Given the description of an element on the screen output the (x, y) to click on. 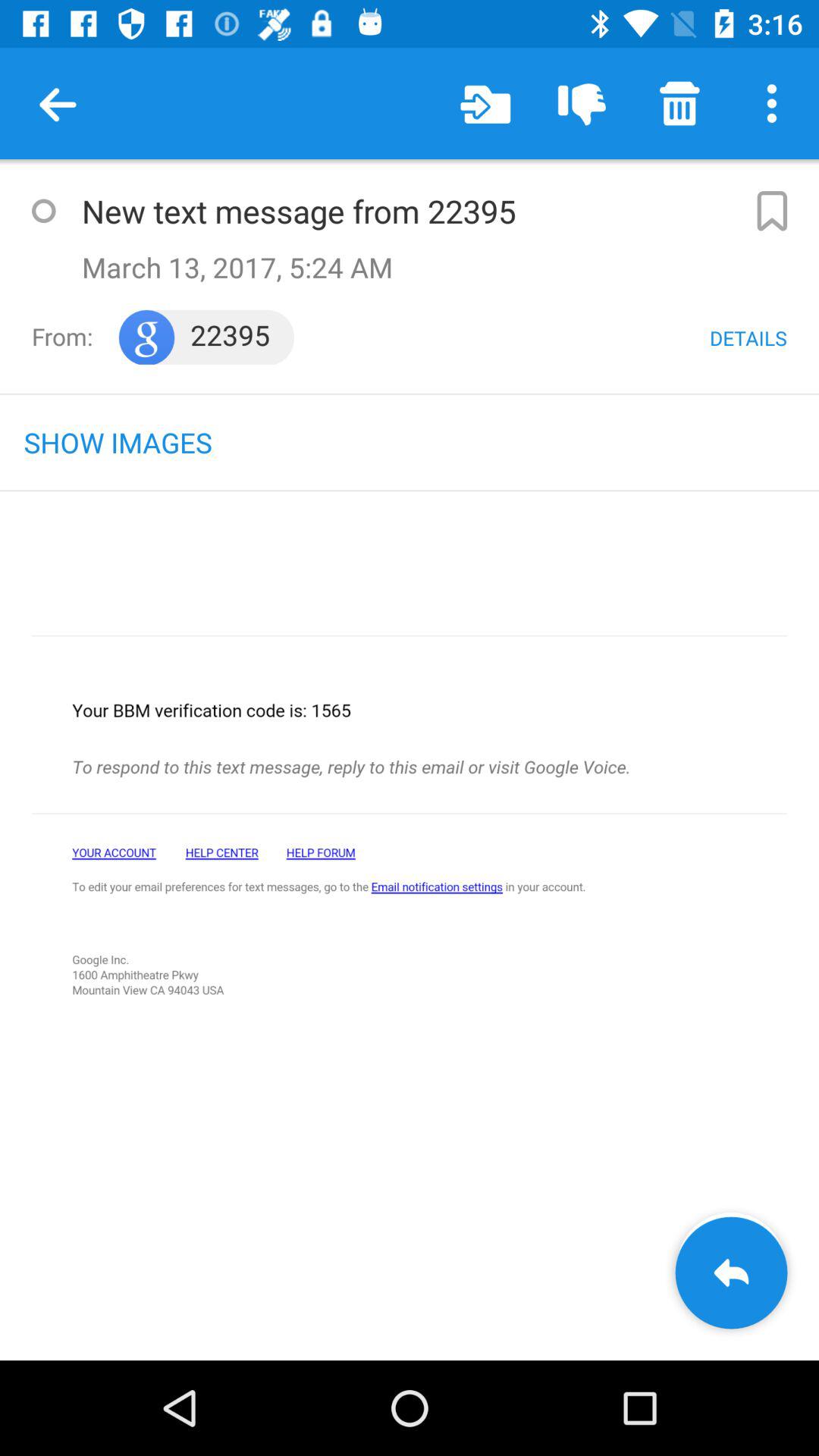
go back button (731, 1272)
